Given the description of an element on the screen output the (x, y) to click on. 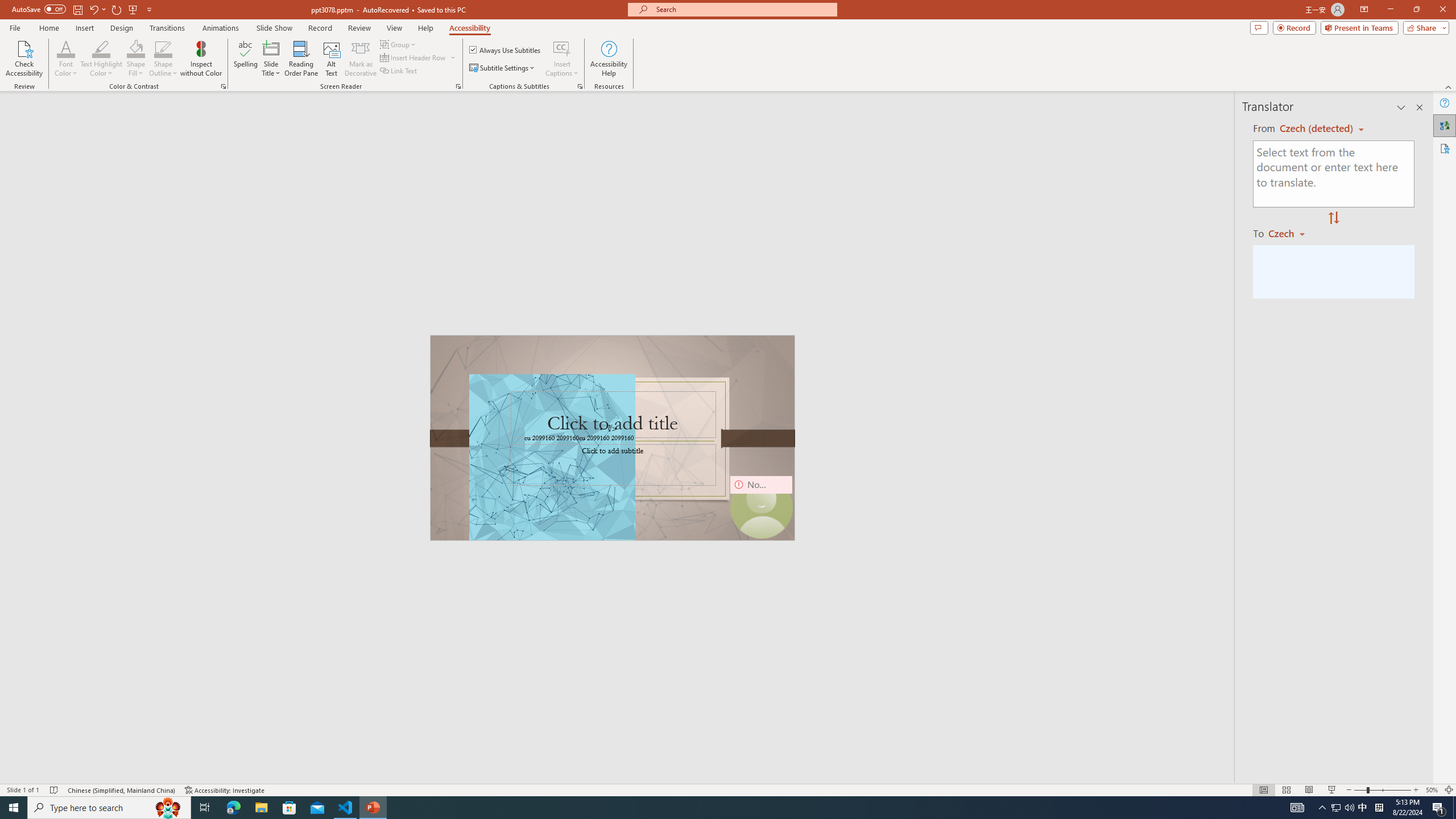
Insert Captions (561, 58)
Slide Title (271, 48)
Czech (1291, 232)
